Given the description of an element on the screen output the (x, y) to click on. 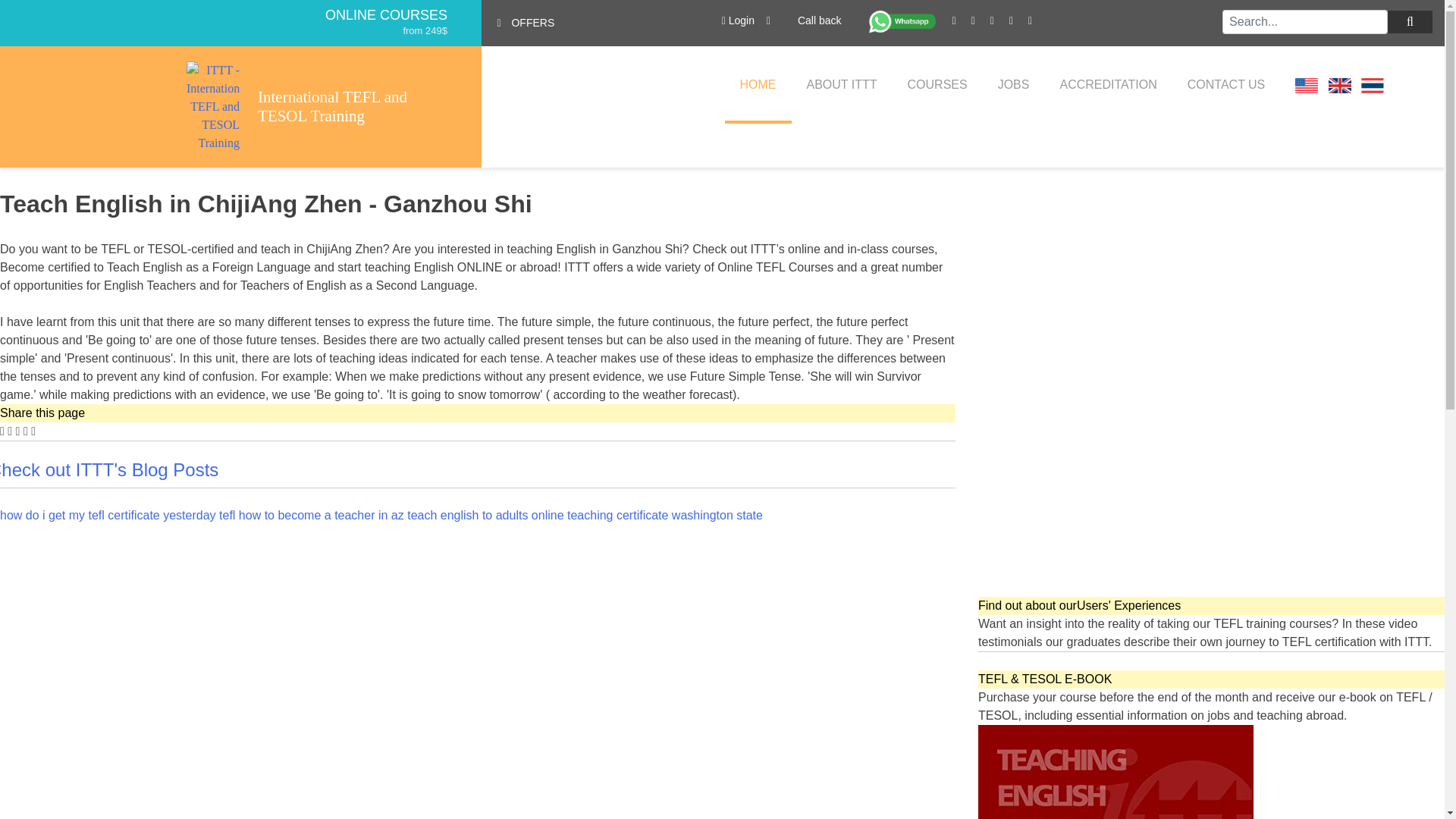
COURSES (937, 84)
Thailand Office (1372, 85)
Login (738, 20)
ACCREDITATION (1107, 84)
ABOUT ITTT (842, 84)
USA Office (1306, 85)
UK Office (1339, 85)
ONLINE COURSES (385, 14)
International TEFL and TESOL Training (351, 106)
CONTACT US (1226, 84)
Call back (817, 22)
JOBS (1013, 84)
HOME (758, 84)
